Given the description of an element on the screen output the (x, y) to click on. 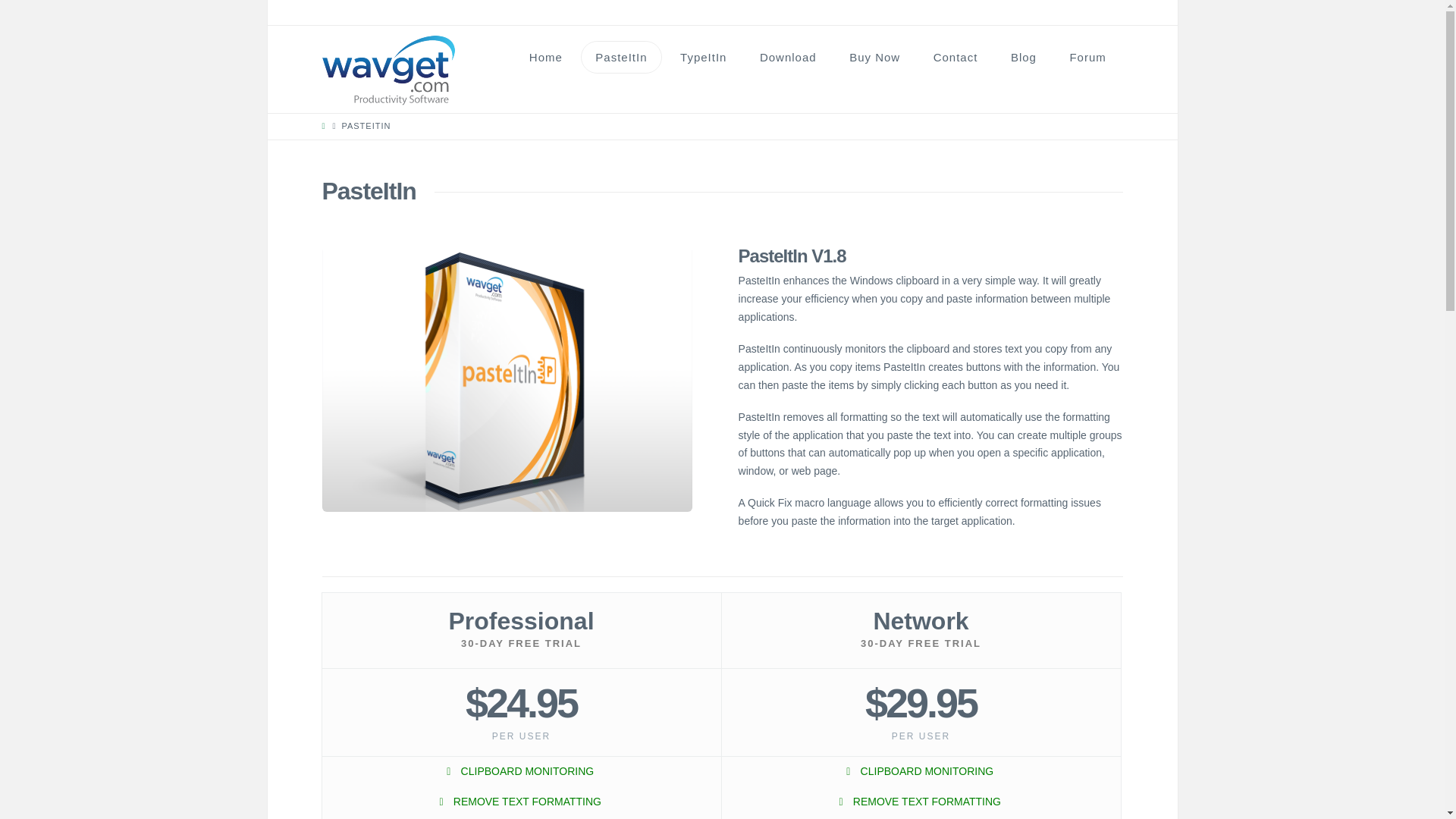
Blog (1023, 56)
Forum (1087, 56)
Download (787, 56)
Home (545, 56)
Low cost productivity software (387, 70)
TypeItIn (703, 56)
PasteItIn (621, 56)
Buy Now (874, 56)
Contact (955, 56)
